Given the description of an element on the screen output the (x, y) to click on. 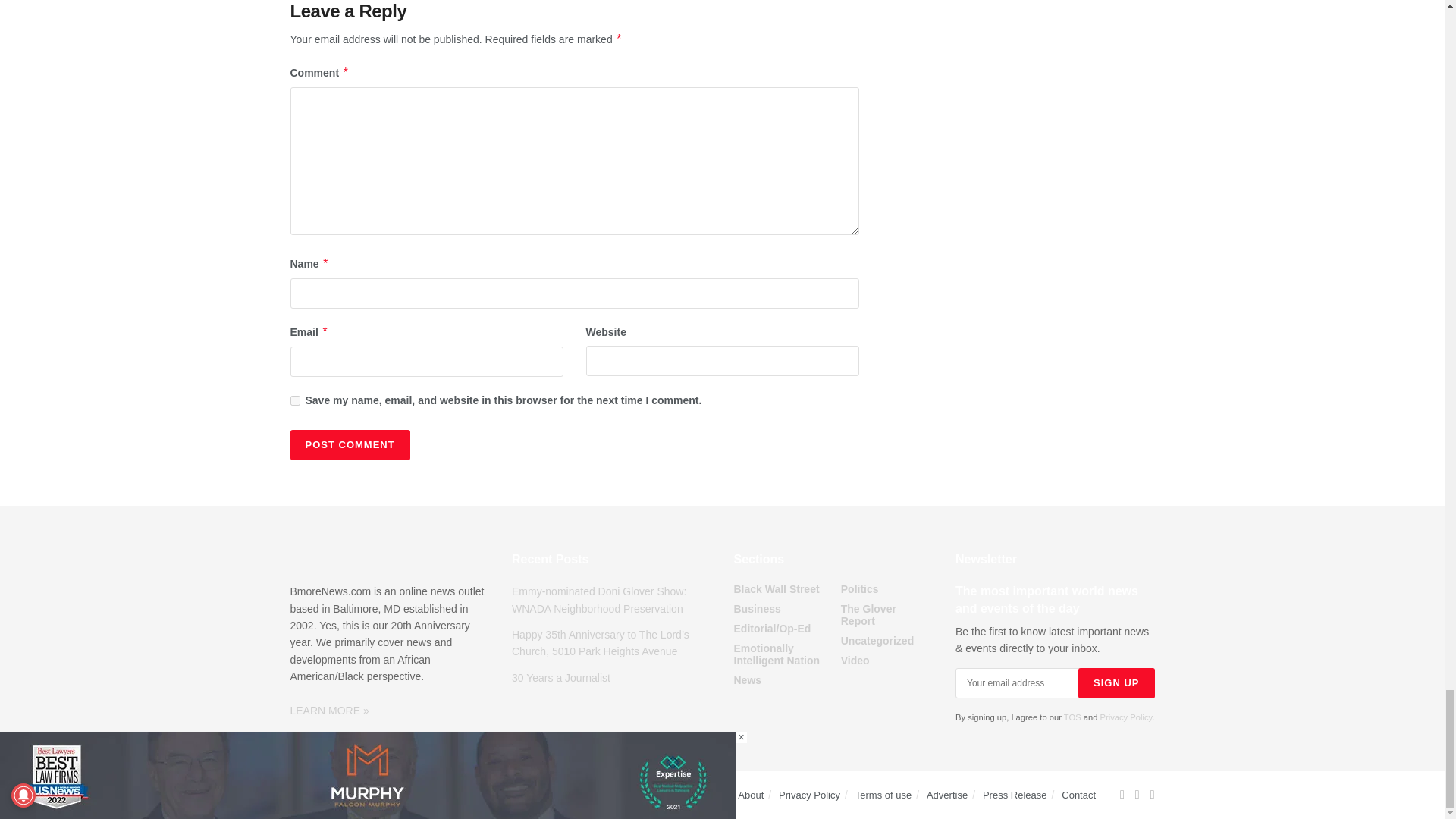
Sign up (1116, 683)
yes (294, 400)
Post Comment (349, 444)
